Given the description of an element on the screen output the (x, y) to click on. 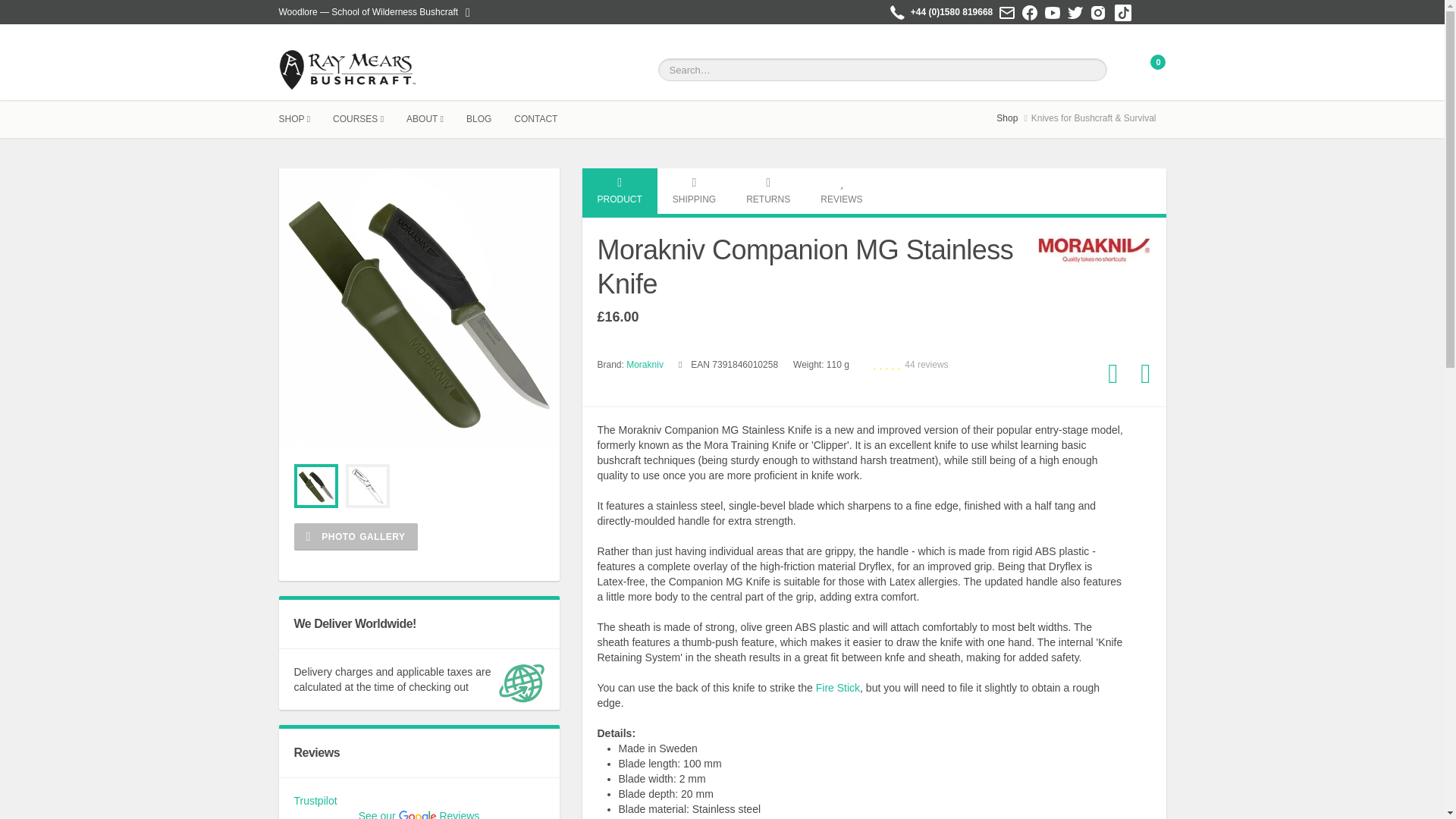
Telephone (895, 13)
Instagram (1097, 13)
Youtube (1052, 11)
TikTok (1123, 11)
0 (1150, 69)
Basket (1150, 69)
TikTok (1123, 12)
SHOP (306, 118)
Instagram (1097, 11)
Twitter (1075, 11)
